Given the description of an element on the screen output the (x, y) to click on. 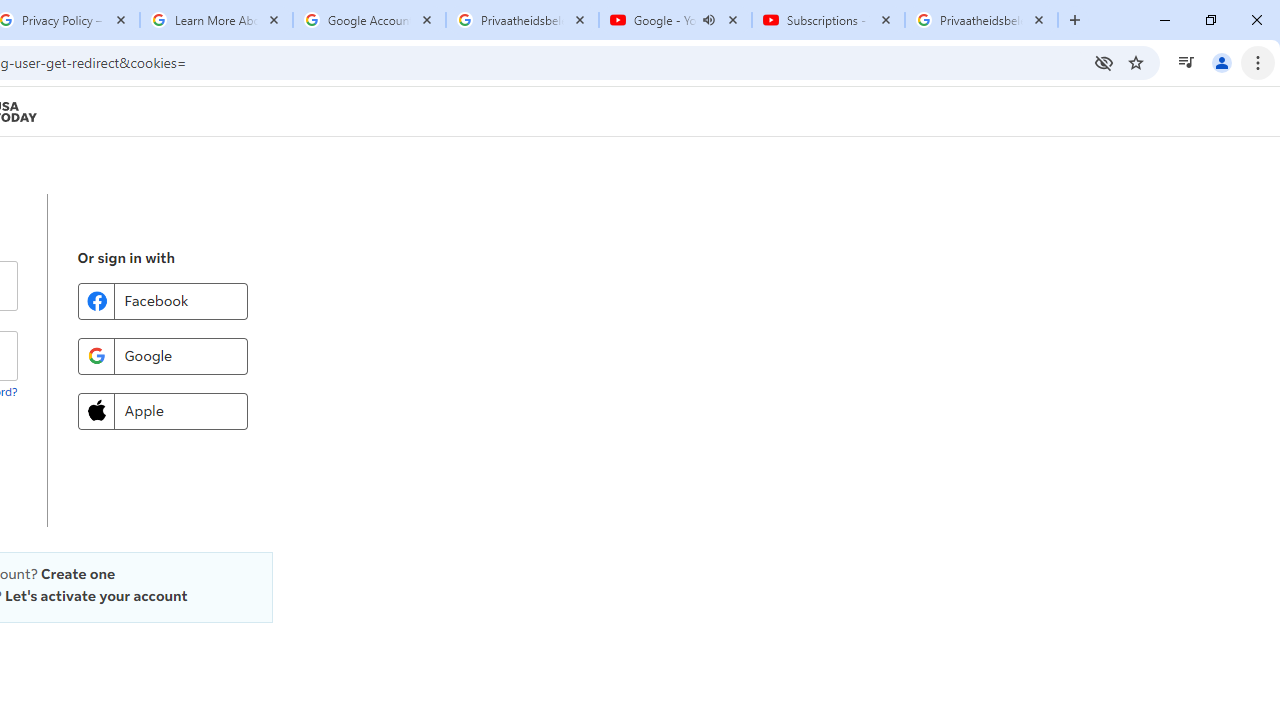
Google Account (369, 20)
Restore (1210, 20)
Minimize (1165, 20)
You (1221, 62)
Bookmark this tab (1135, 62)
Mute tab (708, 20)
Apple (162, 410)
Chrome (1260, 62)
Third-party cookies blocked (1103, 62)
Facebook (162, 300)
Subscriptions - YouTube (827, 20)
Close (1039, 19)
